Given the description of an element on the screen output the (x, y) to click on. 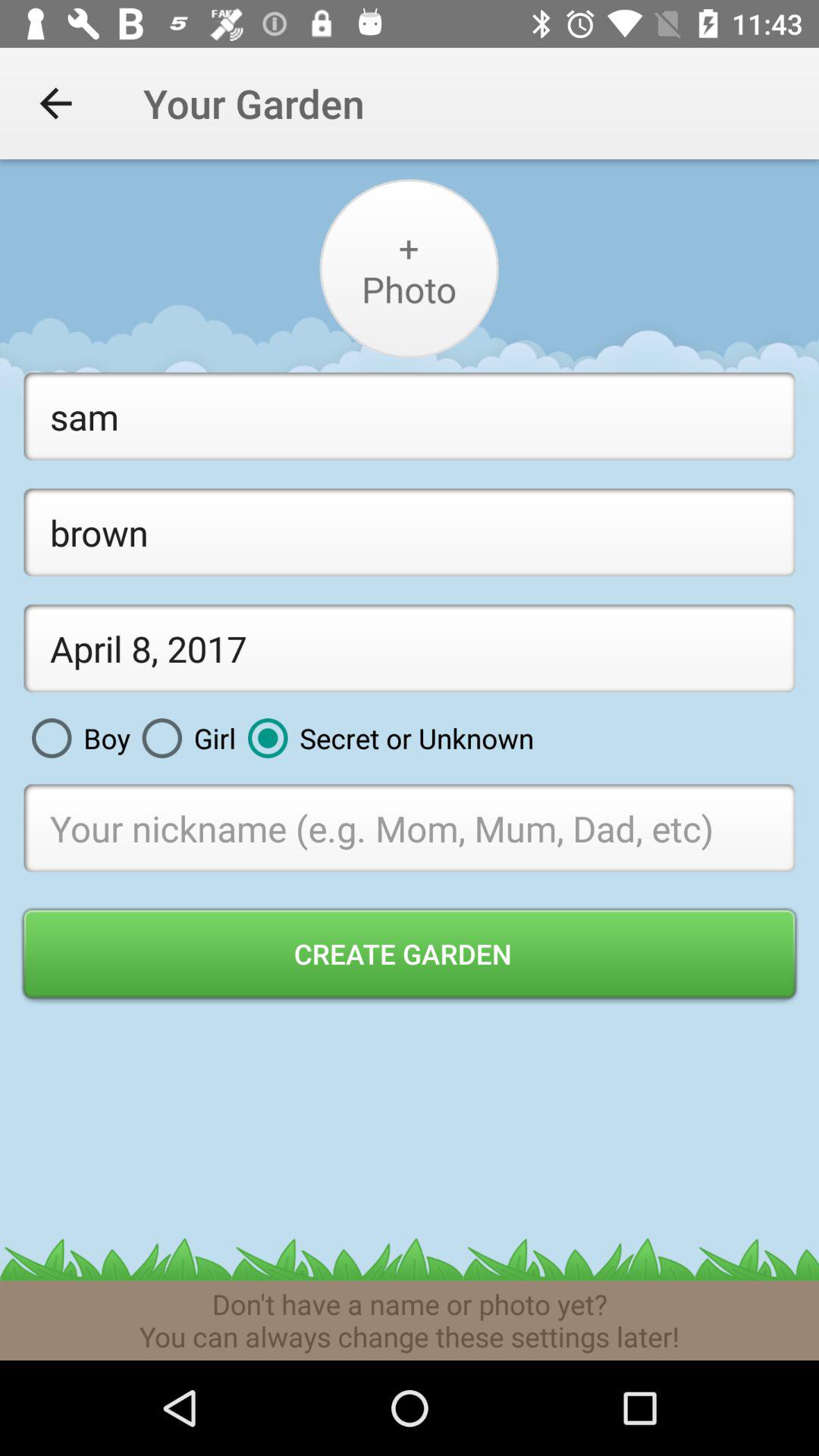
digit your nickname (409, 827)
